Given the description of an element on the screen output the (x, y) to click on. 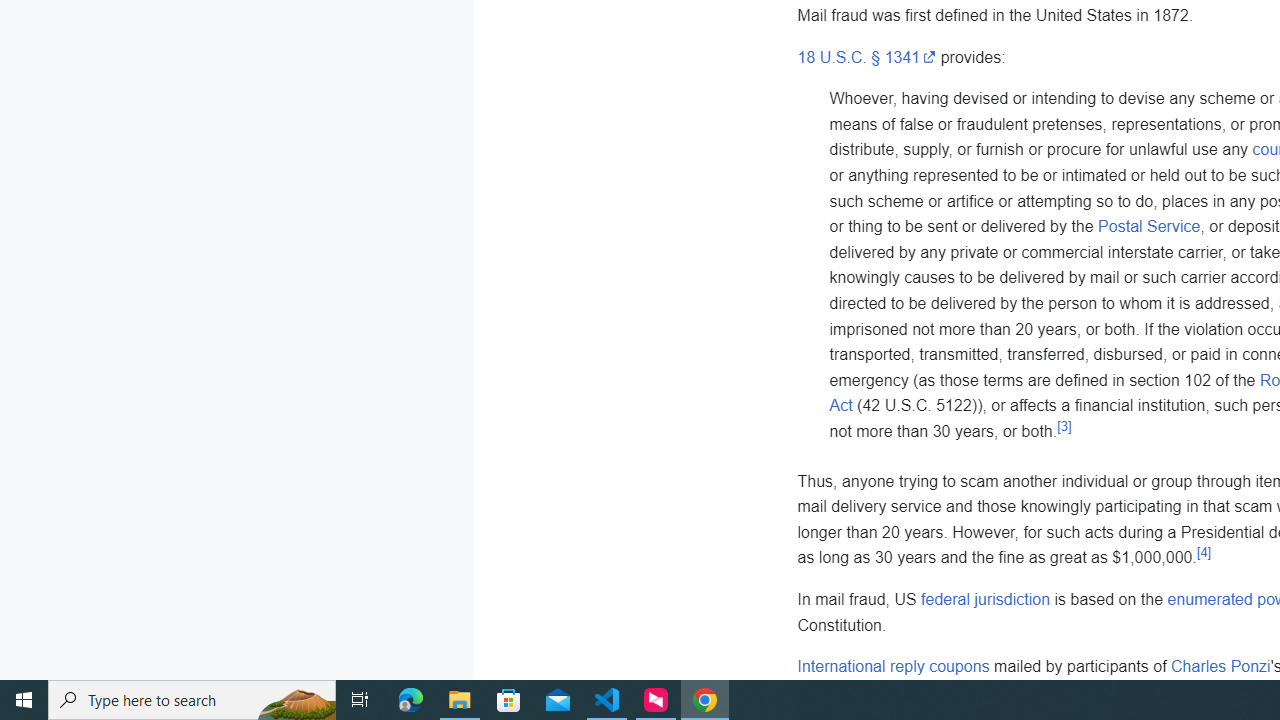
federal jurisdiction (985, 598)
Postal Service (1149, 227)
[5] (1151, 686)
International reply coupons (893, 667)
Charles Ponzi (1221, 667)
[4] (1203, 552)
[3] (1064, 426)
